Given the description of an element on the screen output the (x, y) to click on. 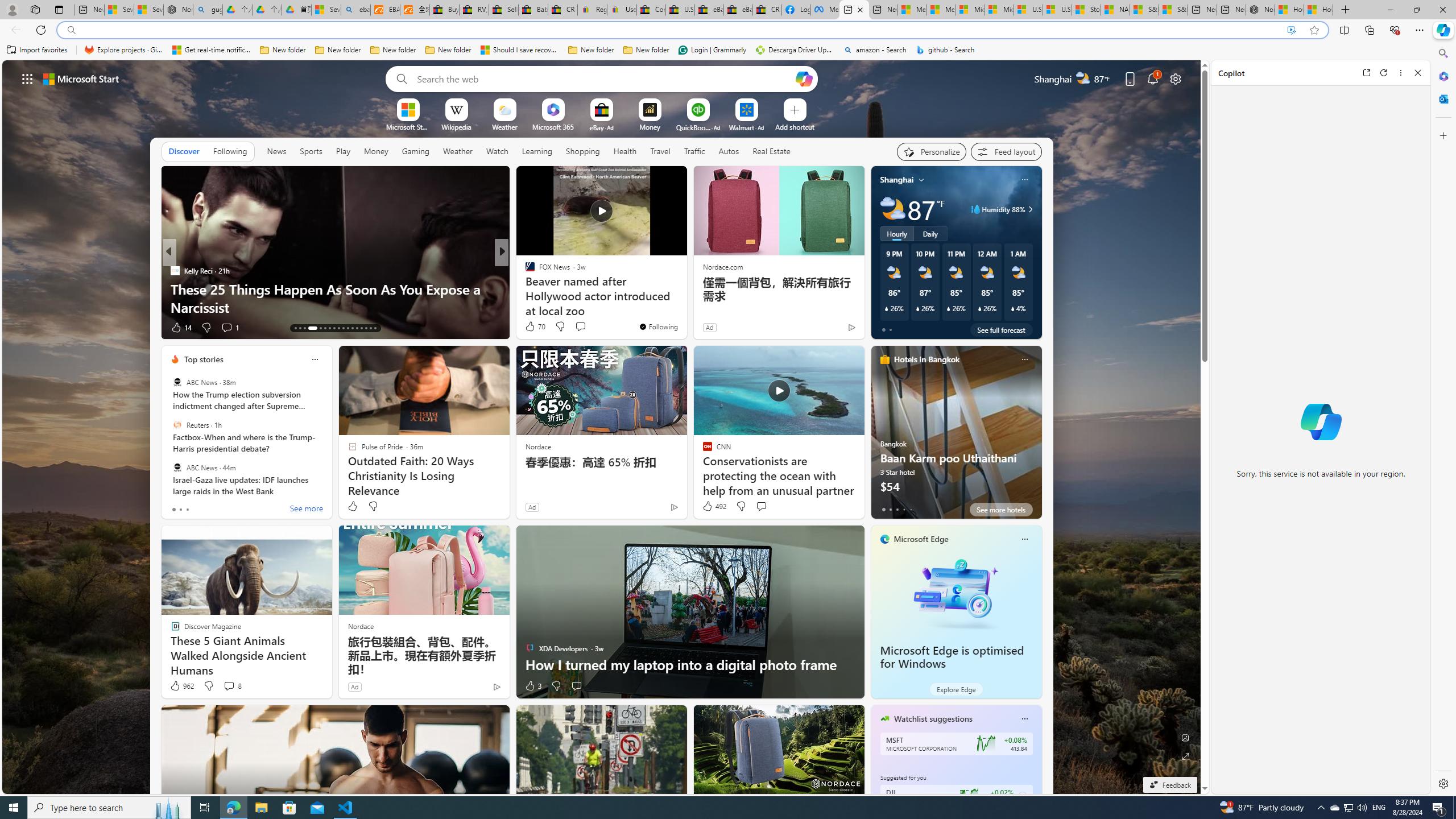
Discovery (524, 270)
Microsoft start (81, 78)
35 Like (530, 327)
Hotels in Bangkok (926, 359)
Class: weather-current-precipitation-glyph (1012, 308)
Enter your search term (603, 78)
